Given the description of an element on the screen output the (x, y) to click on. 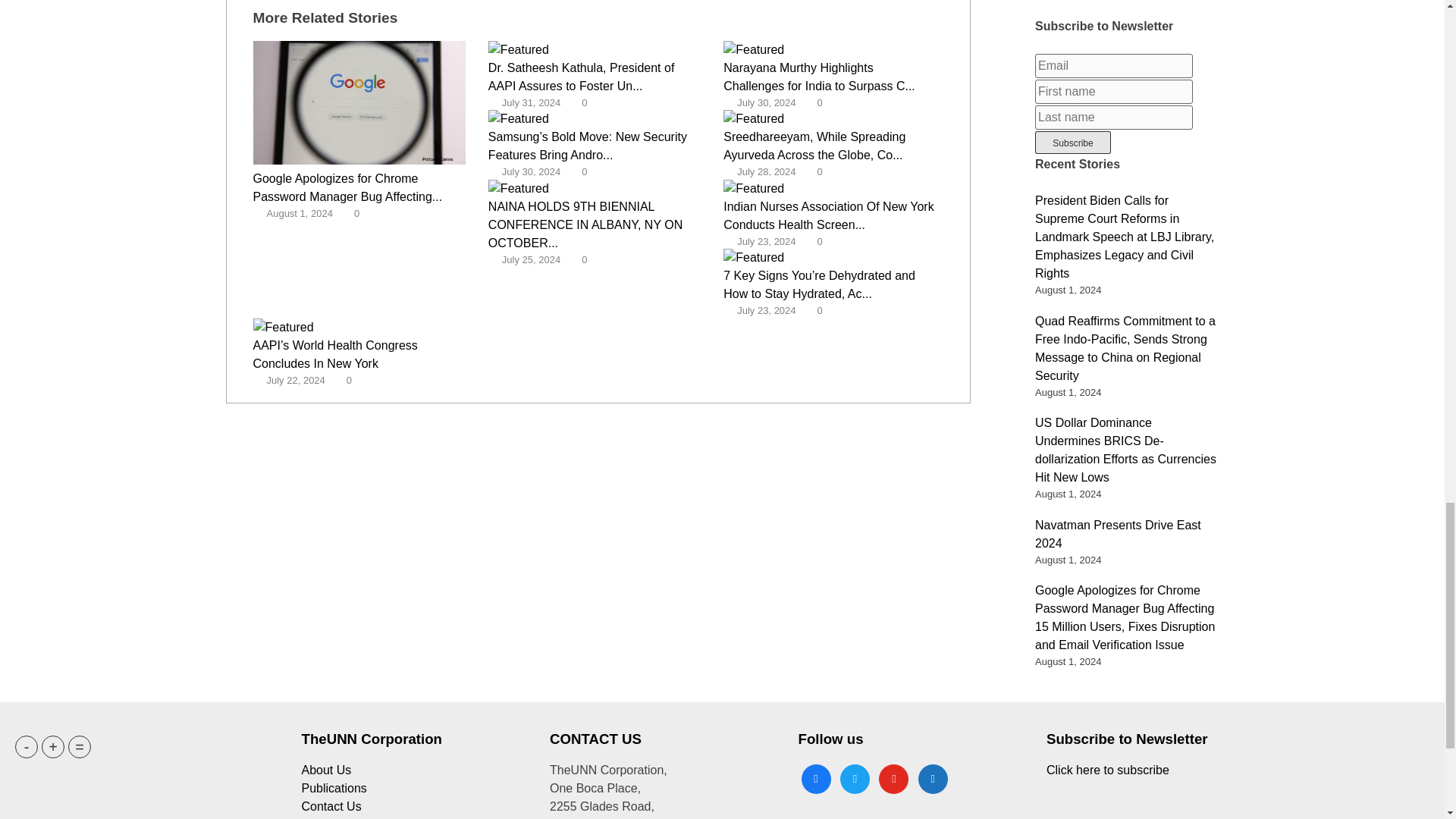
Subscribe (1072, 142)
Default Label (893, 777)
Facebook (814, 777)
Default Label (932, 777)
Twitter (854, 777)
